Given the description of an element on the screen output the (x, y) to click on. 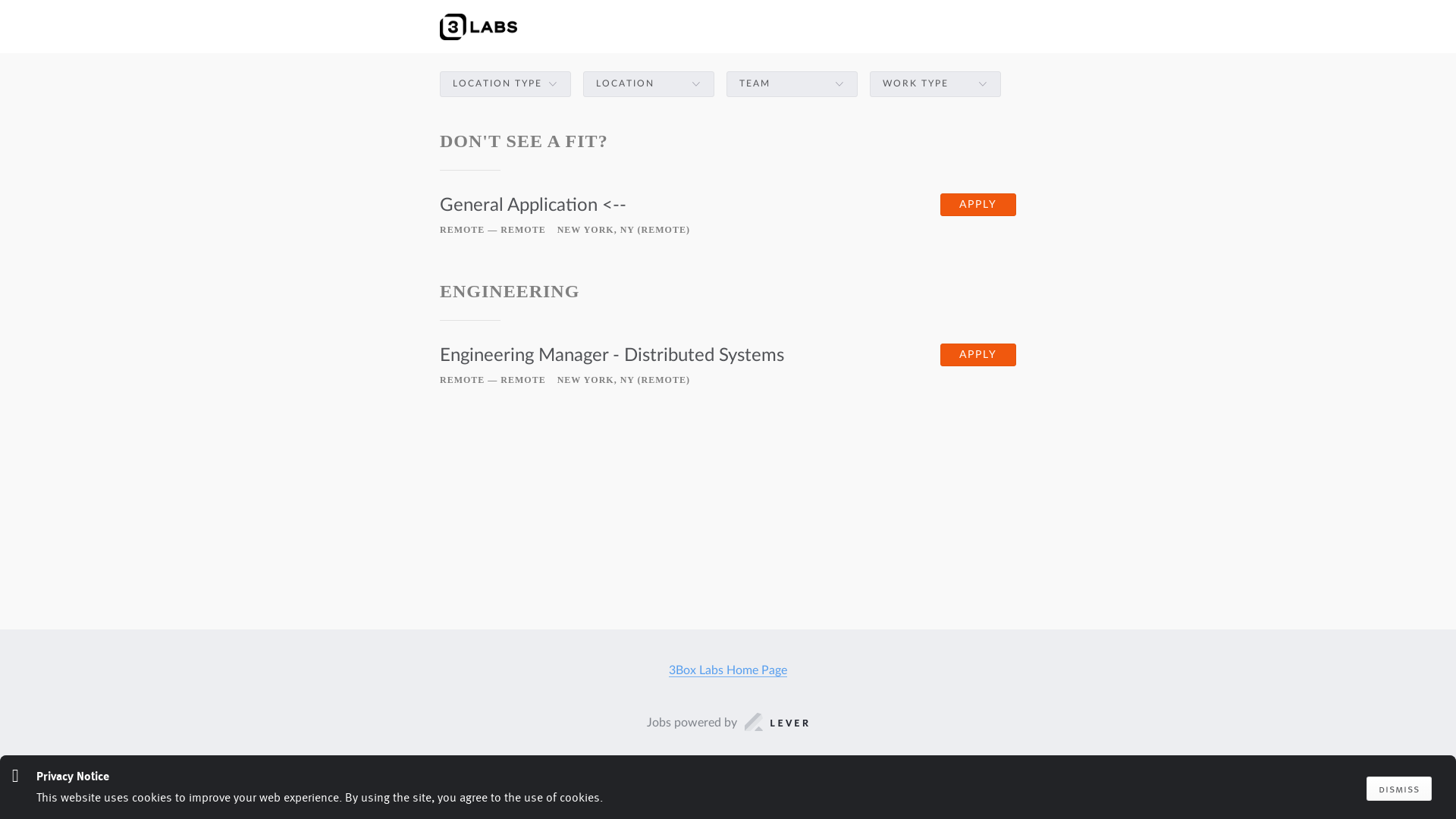
APPLY Element type: text (978, 204)
dismiss Element type: text (1398, 788)
APPLY Element type: text (978, 355)
Jobs powered by Element type: text (727, 723)
3Box Labs Home Page Element type: text (727, 670)
